Given the description of an element on the screen output the (x, y) to click on. 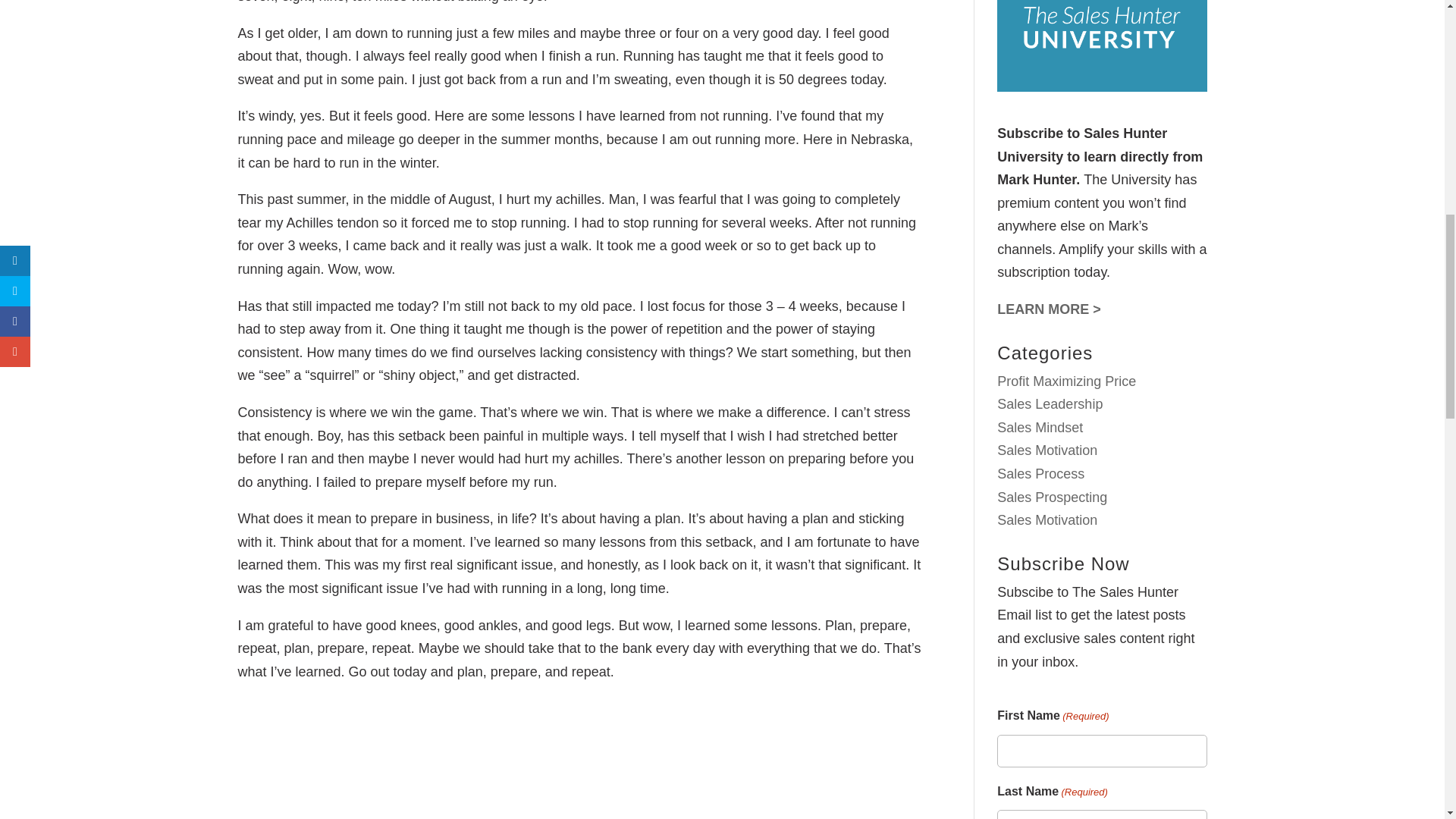
Sales Motivation (1047, 450)
Lessons from Running (579, 757)
Profit Maximizing Price (1066, 381)
Sales Mindset (1040, 427)
Sales Motivation (1047, 519)
Sales Prospecting (1051, 497)
Sales Process (1040, 473)
Sales Leadership (1049, 403)
